Given the description of an element on the screen output the (x, y) to click on. 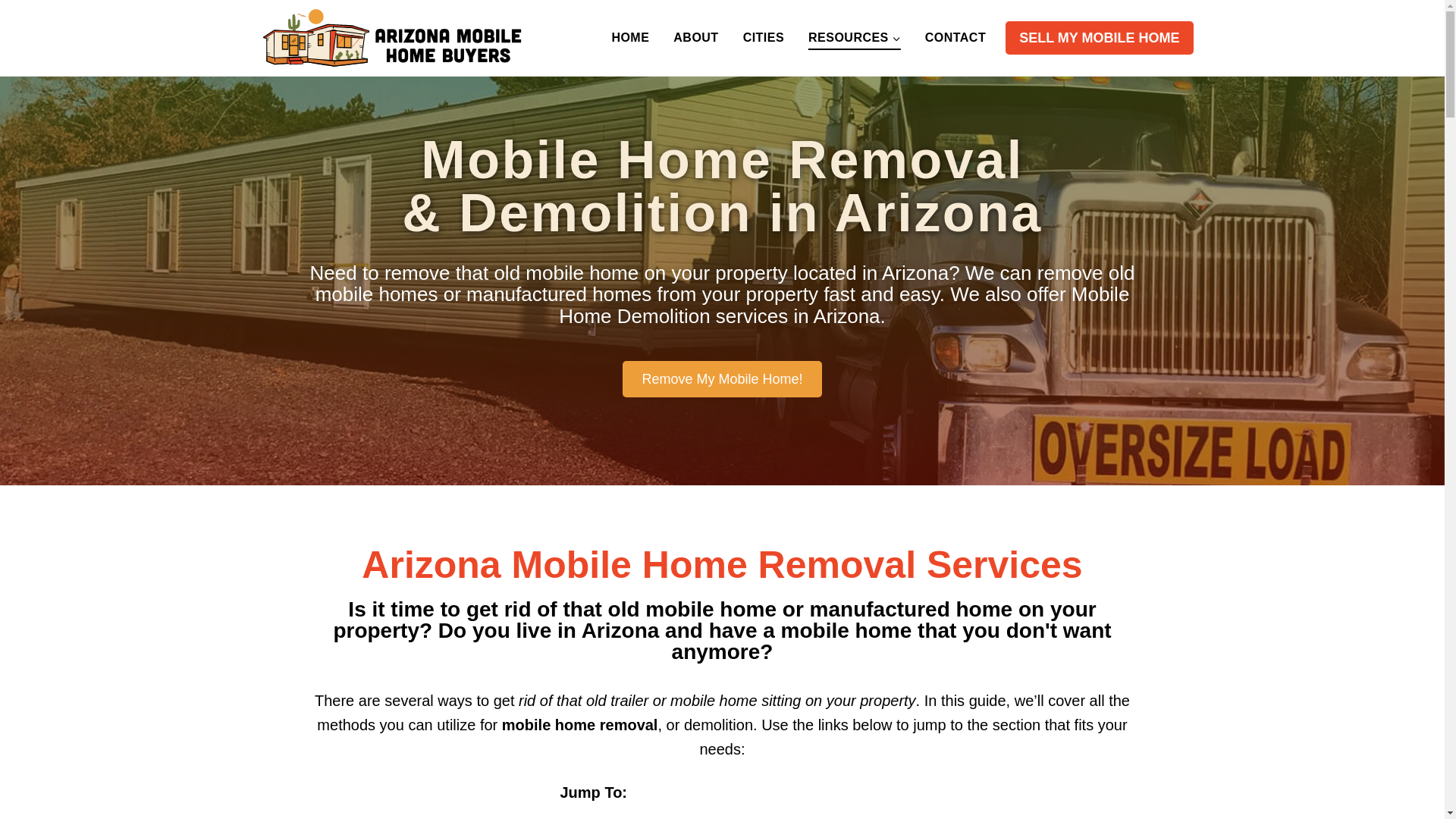
CONTACT (954, 37)
RESOURCES (854, 37)
HOME (629, 37)
CITIES (763, 37)
SELL MY MOBILE HOME (1099, 37)
Remove My Mobile Home! (722, 379)
ABOUT (695, 37)
